Given the description of an element on the screen output the (x, y) to click on. 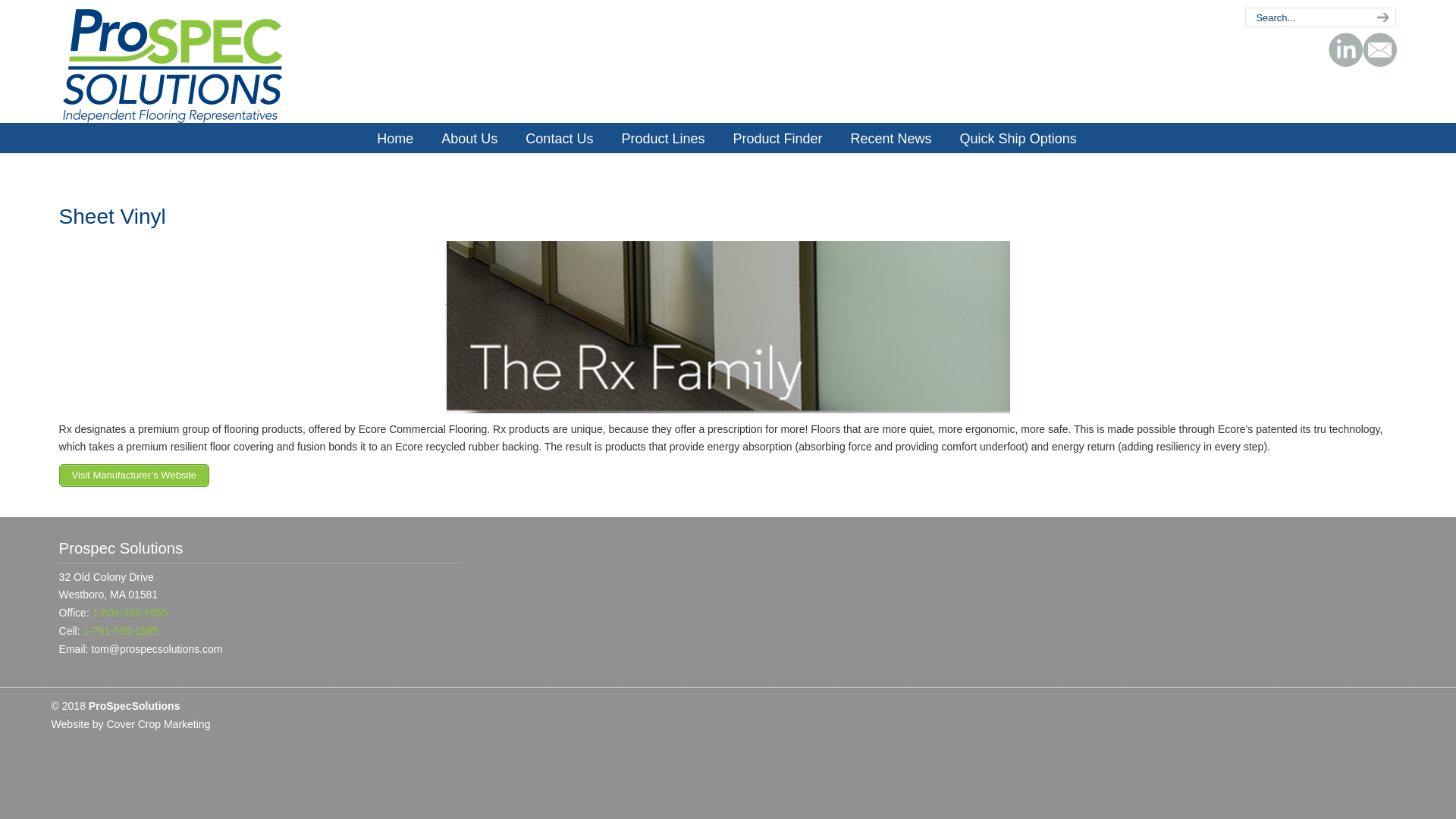
search (1380, 17)
Recent News (891, 138)
Contact Us (559, 138)
ProSpecSolutions (172, 65)
search (1380, 17)
1-508-389-9955 (130, 612)
Product Lines (662, 138)
search (1380, 17)
Product Finder (777, 138)
About Us (469, 138)
